Given the description of an element on the screen output the (x, y) to click on. 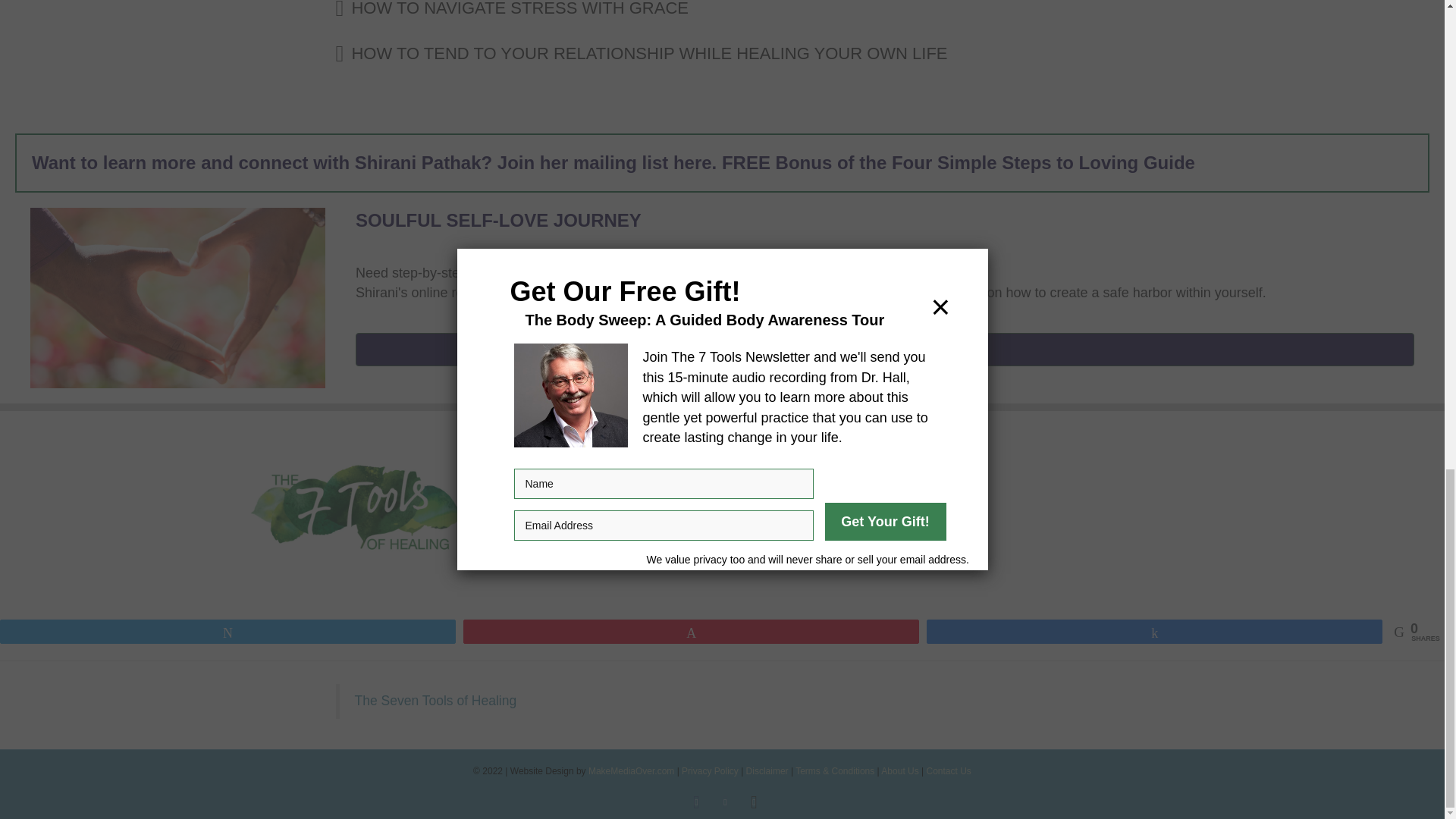
blur-bokeh-bright-613321 (177, 298)
SOULFUL SELF-LOVE JOURNEY (498, 219)
7 Tools Facebook (357, 508)
